Given the description of an element on the screen output the (x, y) to click on. 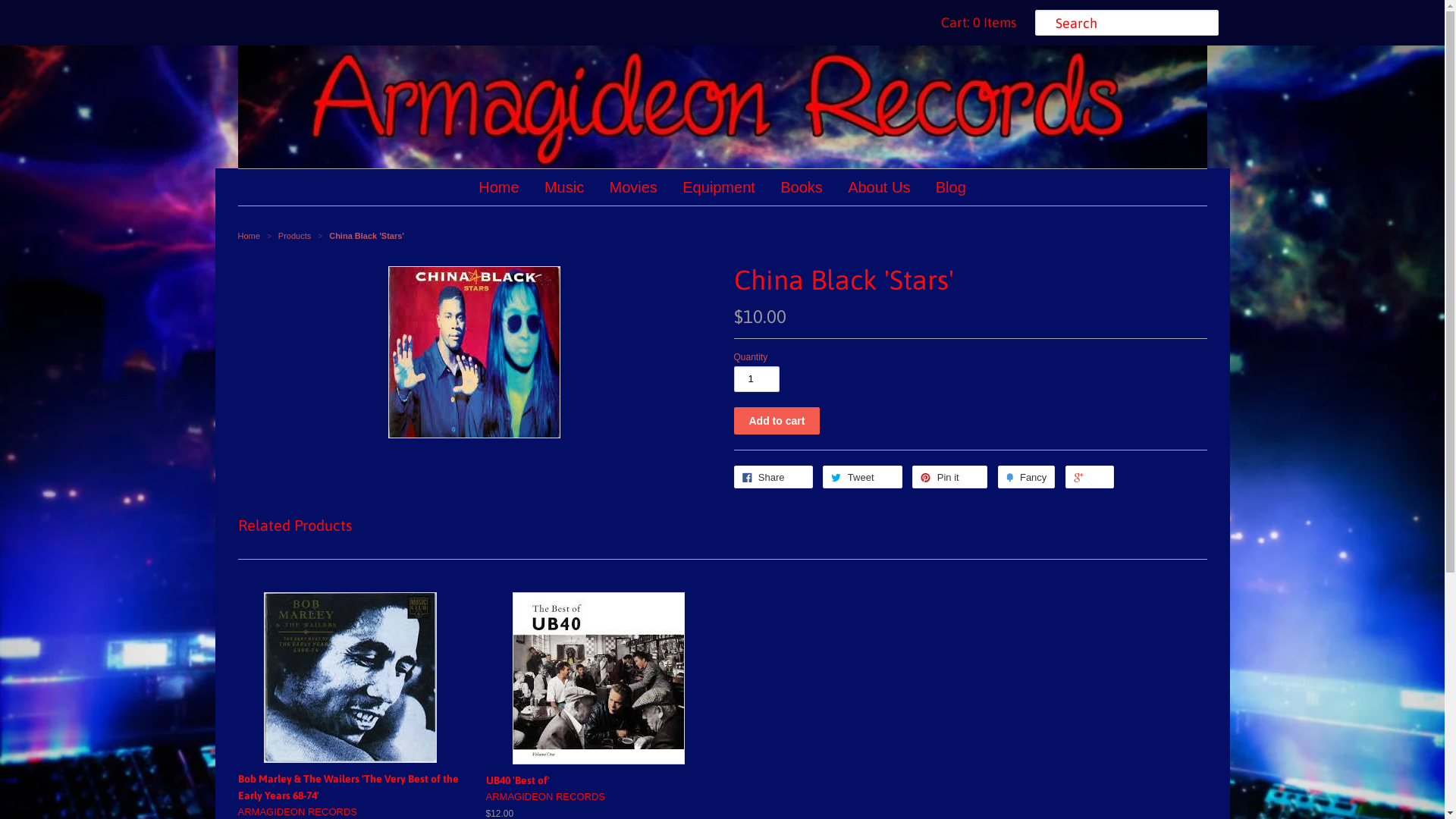
Movies Element type: text (633, 187)
Blog Element type: text (950, 187)
Cart: 0 Items Element type: text (975, 22)
Tweet Element type: text (862, 476)
Home Element type: text (249, 235)
About Us Element type: text (878, 187)
Add to cart Element type: text (777, 420)
Equipment Element type: text (718, 187)
Share Element type: text (773, 476)
Books Element type: text (801, 187)
Pin it Element type: text (949, 476)
Fancy Element type: text (1026, 476)
Home Element type: text (498, 187)
Music Element type: text (564, 187)
Products Element type: text (295, 235)
